Given the description of an element on the screen output the (x, y) to click on. 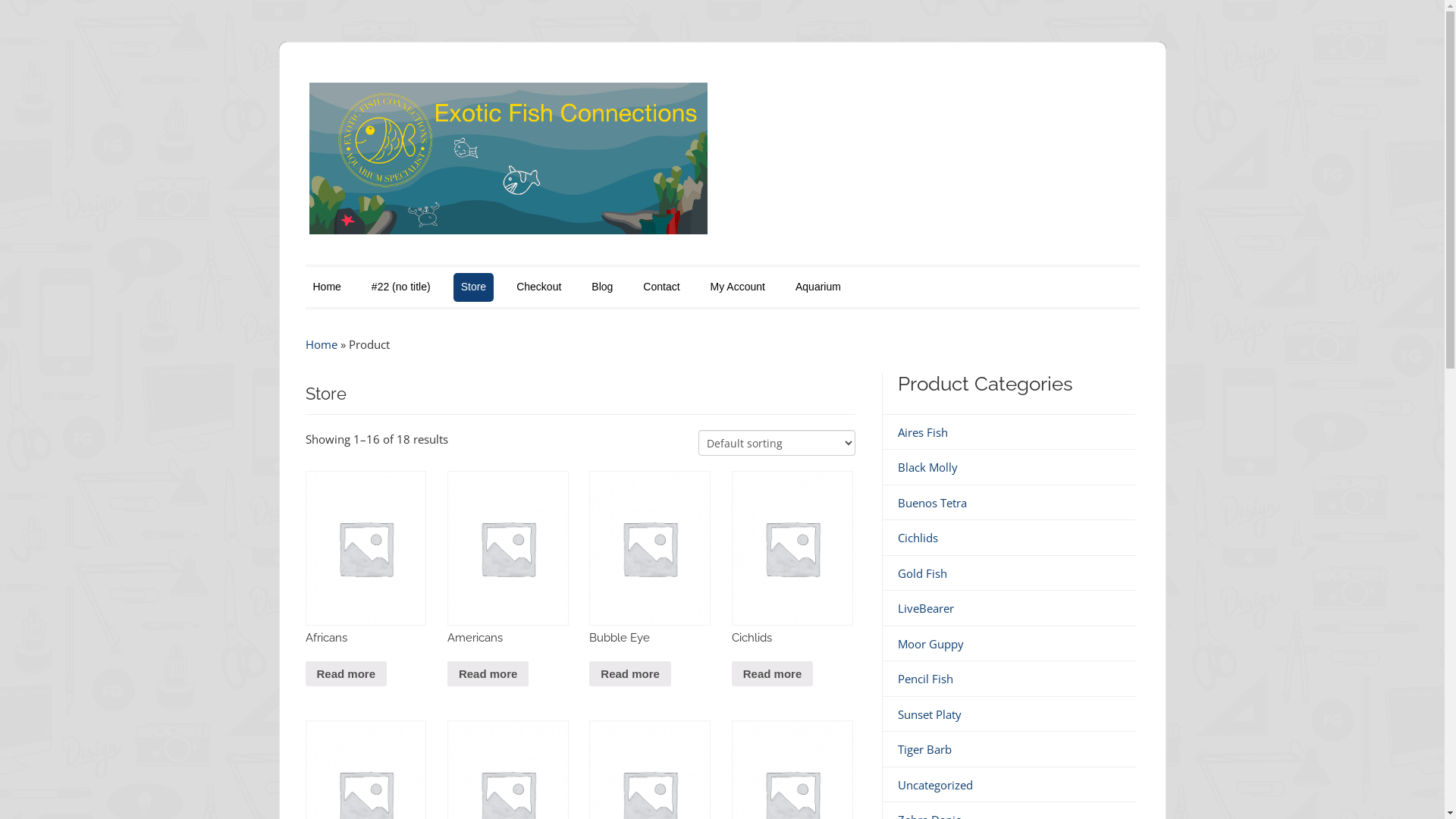
Aquarium Element type: text (817, 287)
Checkout Element type: text (538, 287)
Uncategorized Element type: text (934, 784)
Home Element type: text (326, 287)
Read more Element type: text (630, 674)
Cichlids Element type: text (917, 537)
Aires Fish Element type: text (922, 431)
Blog Element type: text (601, 287)
Bubble Eye Element type: text (649, 572)
Pencil Fish Element type: text (925, 678)
Home Element type: text (320, 343)
Read more Element type: text (345, 674)
Black Molly Element type: text (927, 466)
Contact Element type: text (661, 287)
Moor Guppy Element type: text (930, 643)
Americans Element type: text (507, 572)
#22 (no title) Element type: text (401, 287)
Read more Element type: text (488, 674)
Gold Fish Element type: text (922, 572)
LiveBearer Element type: text (925, 607)
Read more Element type: text (772, 674)
Sunset Platy Element type: text (929, 713)
Store Element type: text (473, 287)
Cichlids Element type: text (792, 572)
My Account Element type: text (737, 287)
Tiger Barb Element type: text (924, 748)
Africans Element type: text (365, 572)
Buenos Tetra Element type: text (931, 502)
